Given the description of an element on the screen output the (x, y) to click on. 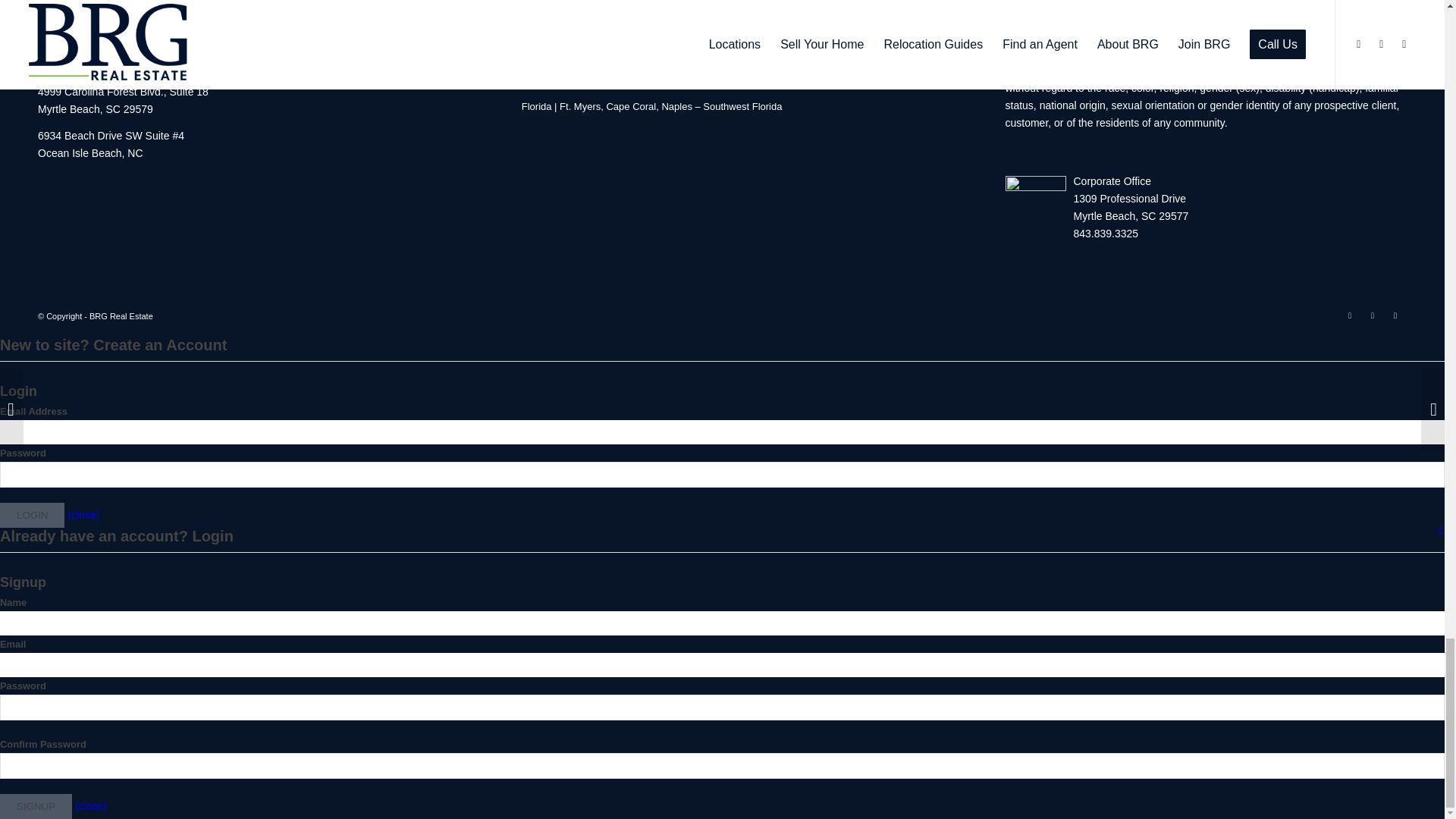
LOGIN (32, 514)
Youtube (1395, 314)
Facebook (1349, 314)
Instagram (1372, 314)
